Given the description of an element on the screen output the (x, y) to click on. 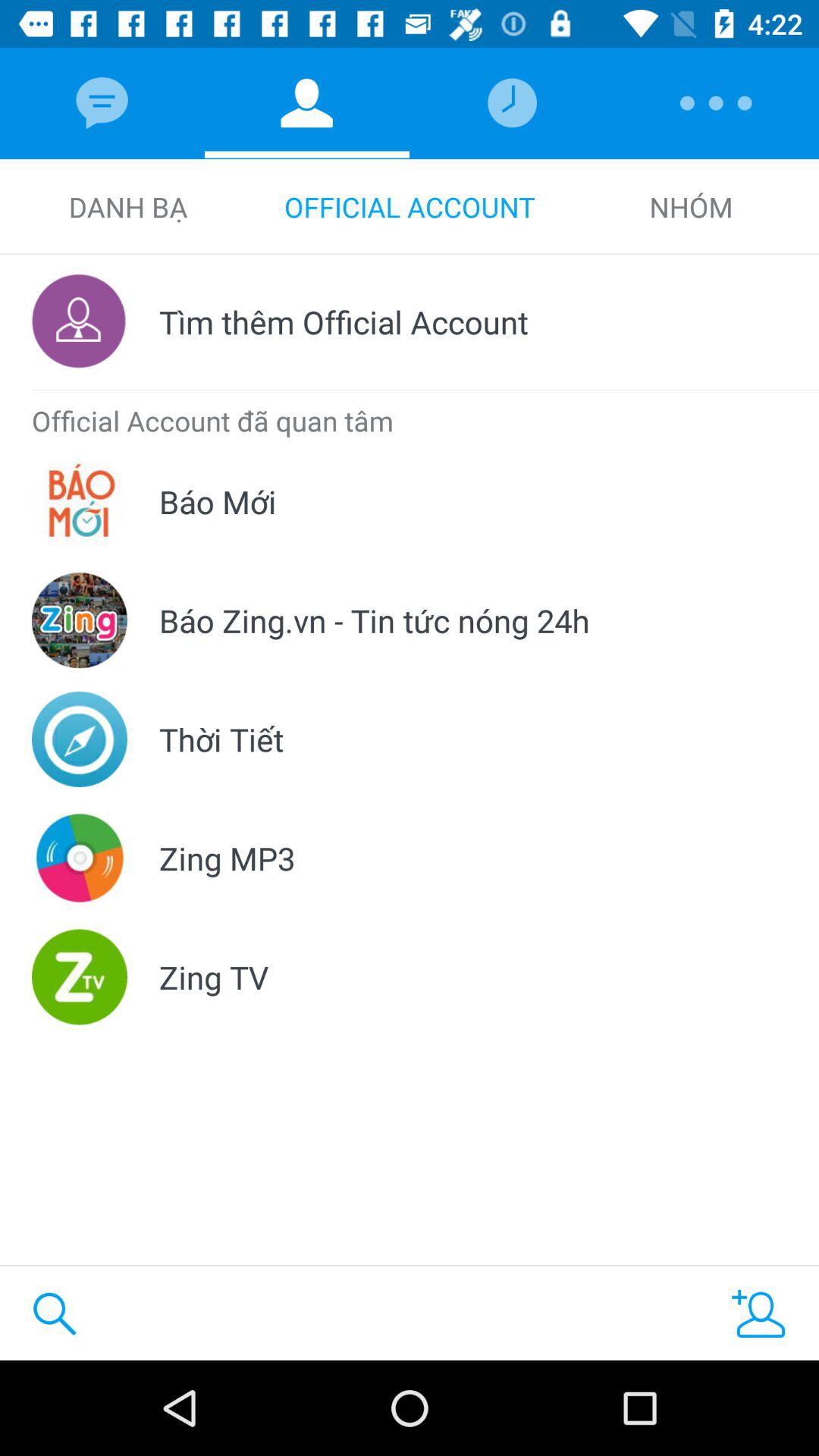
select the item next to official account item (127, 206)
